Given the description of an element on the screen output the (x, y) to click on. 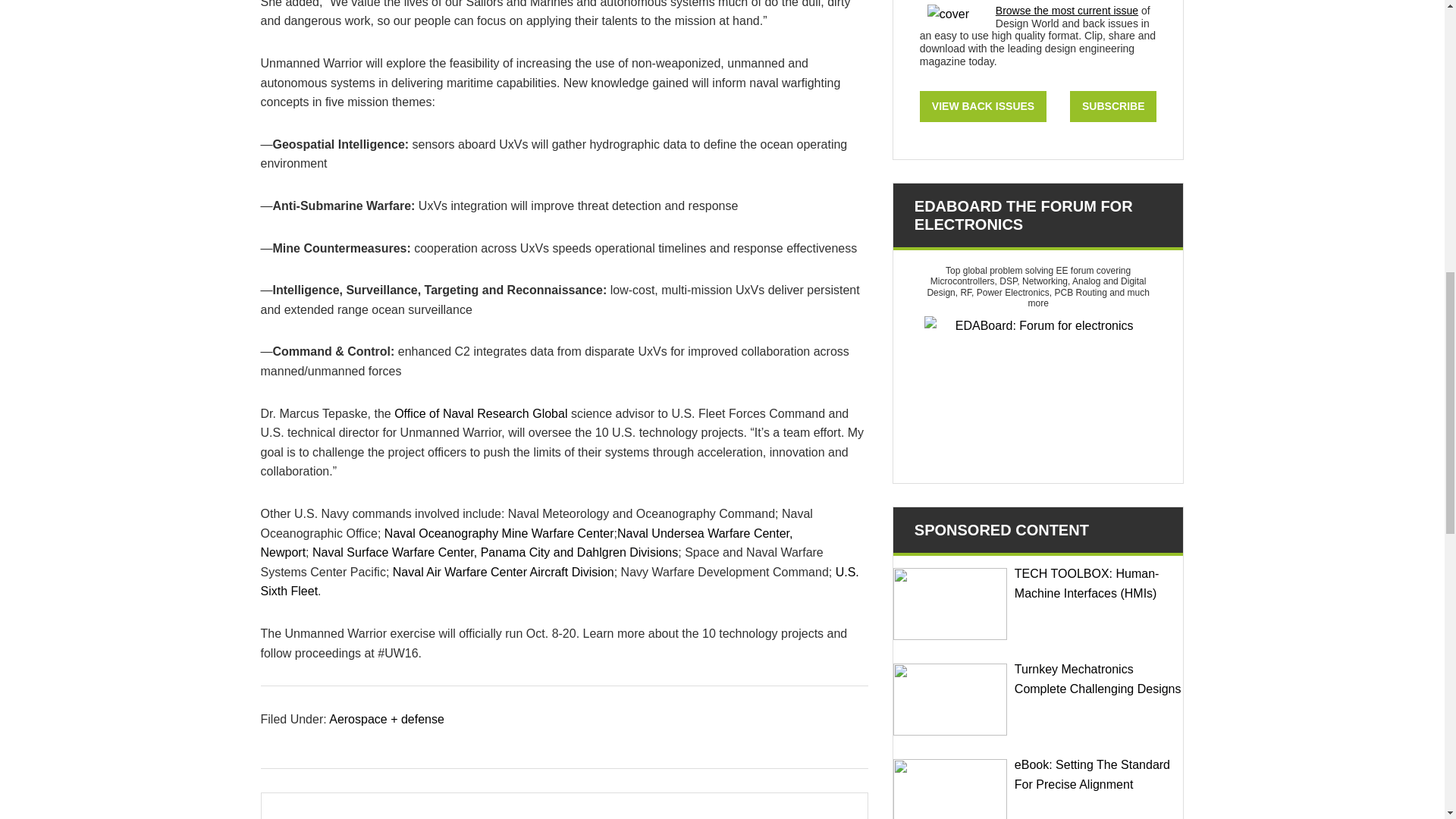
Turnkey Mechatronics Complete Challenging Designs (950, 699)
EDABoard: Forum for electronics (1037, 391)
eBook: Setting The Standard For Precise Alignment (950, 789)
